Given the description of an element on the screen output the (x, y) to click on. 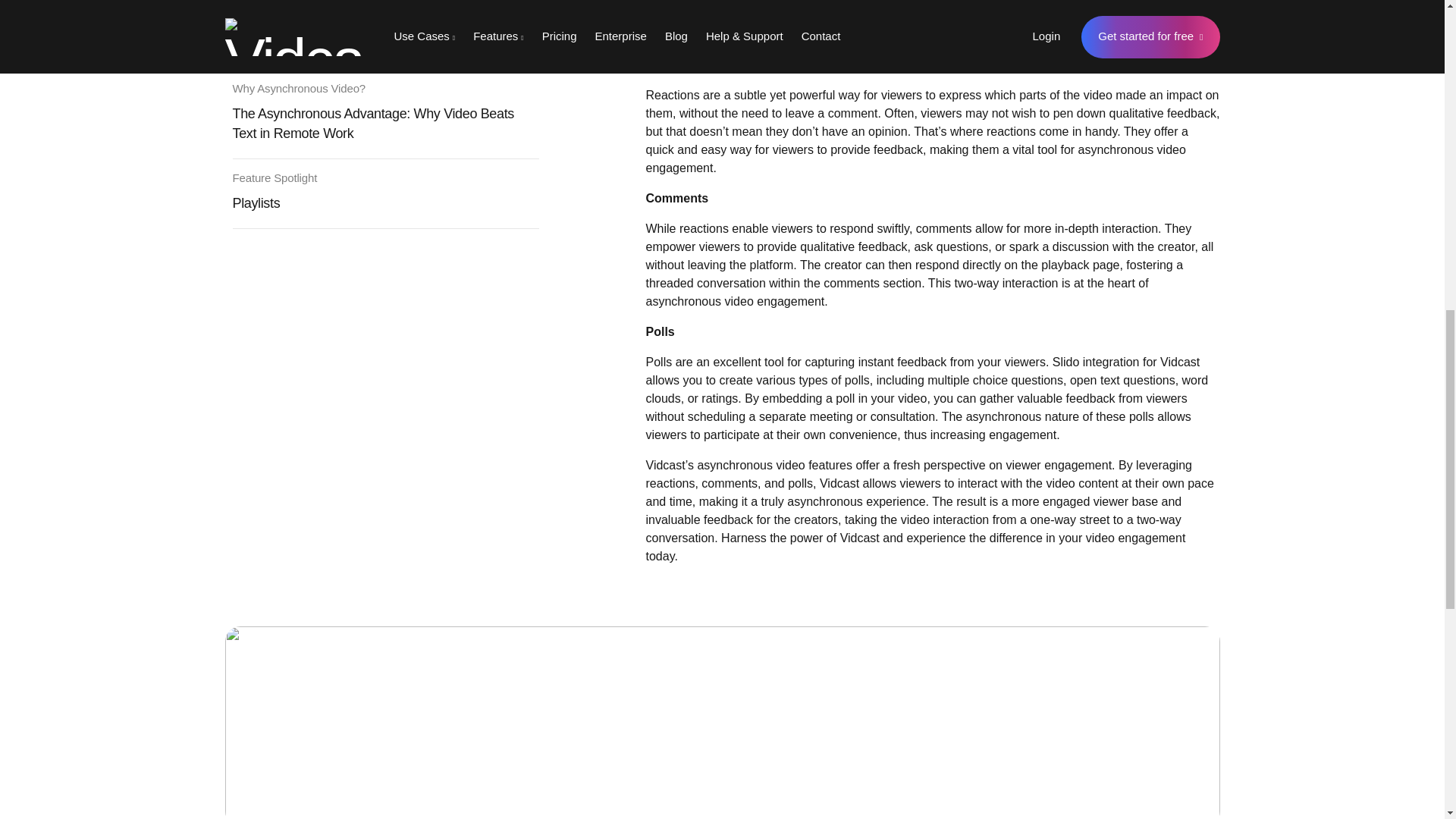
Feature Spotlight (274, 177)
Why Asynchronous Video? (298, 88)
Playlists (255, 202)
Learn more (1118, 701)
